Given the description of an element on the screen output the (x, y) to click on. 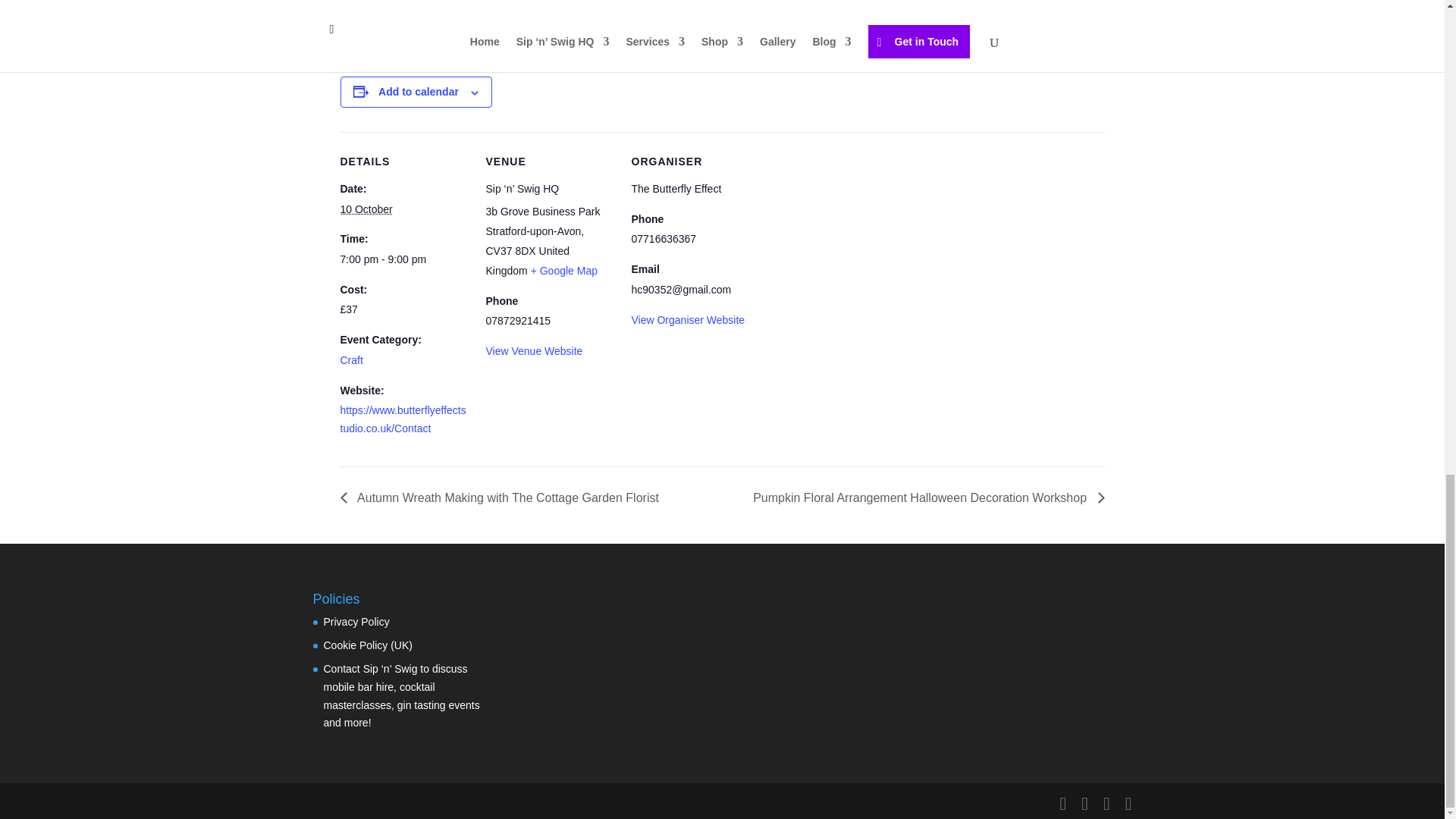
Click to view a Google Map (563, 270)
View Venue Website (533, 350)
Add to calendar (418, 91)
View Organiser Website (687, 319)
Pumpkin Floral Arrangement Halloween Decoration Workshop (923, 497)
2024-10-10 (365, 209)
Autumn Wreath Making with The Cottage Garden Florist (502, 497)
2024-10-10 (403, 259)
Craft (350, 359)
